Given the description of an element on the screen output the (x, y) to click on. 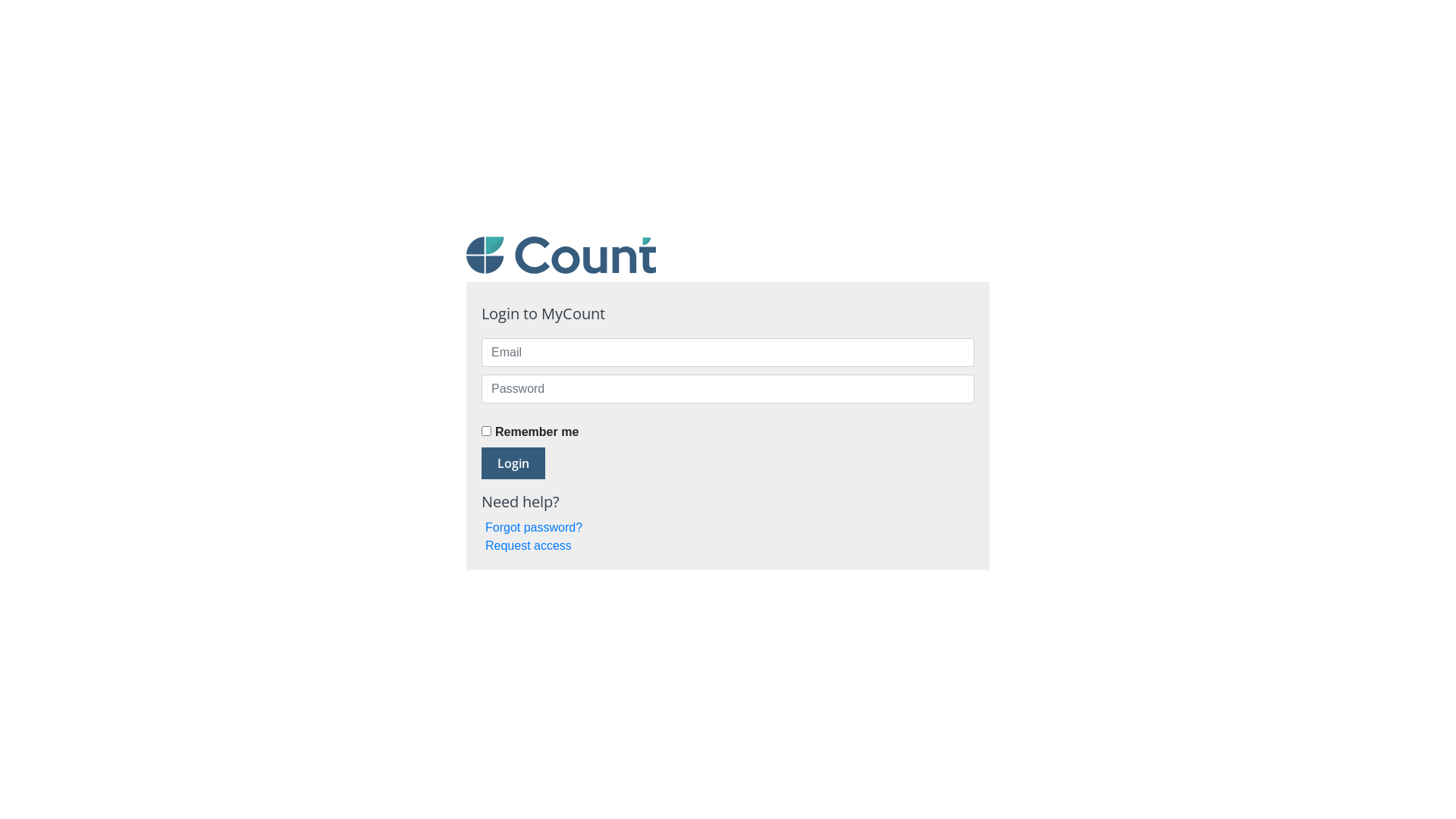
Request access Element type: text (528, 545)
Login Element type: text (513, 463)
Forgot password? Element type: text (533, 526)
